Given the description of an element on the screen output the (x, y) to click on. 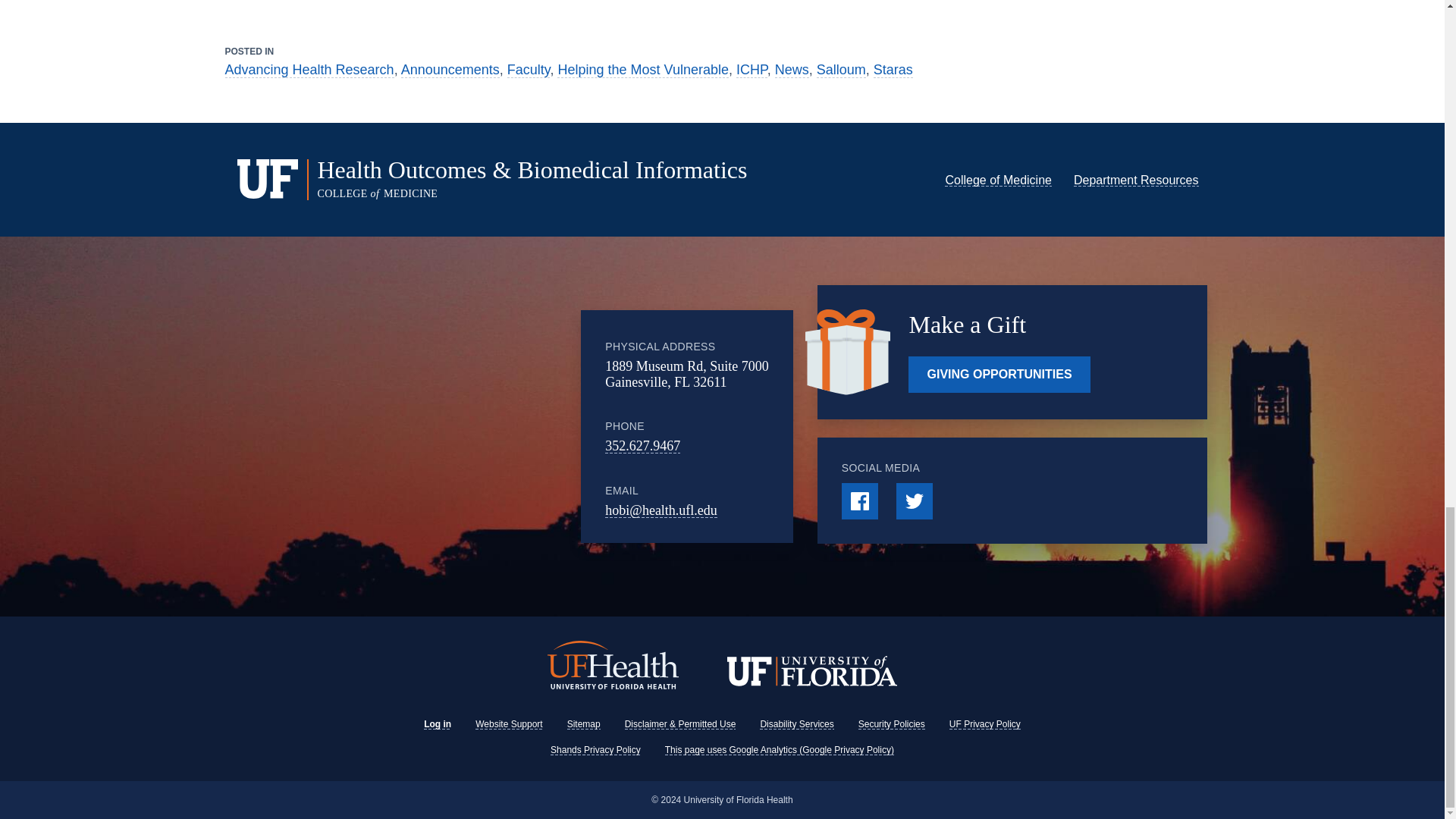
Shands Privacy Policy (595, 749)
Sitemap (583, 724)
Disability Services (796, 724)
UF Privacy Policy (984, 724)
352.627.9467 (642, 445)
Log in (437, 724)
Website Support (509, 724)
Google Maps Embed (456, 425)
Security Policies (891, 724)
Department Resources (1136, 179)
College of Medicine (997, 179)
